Given the description of an element on the screen output the (x, y) to click on. 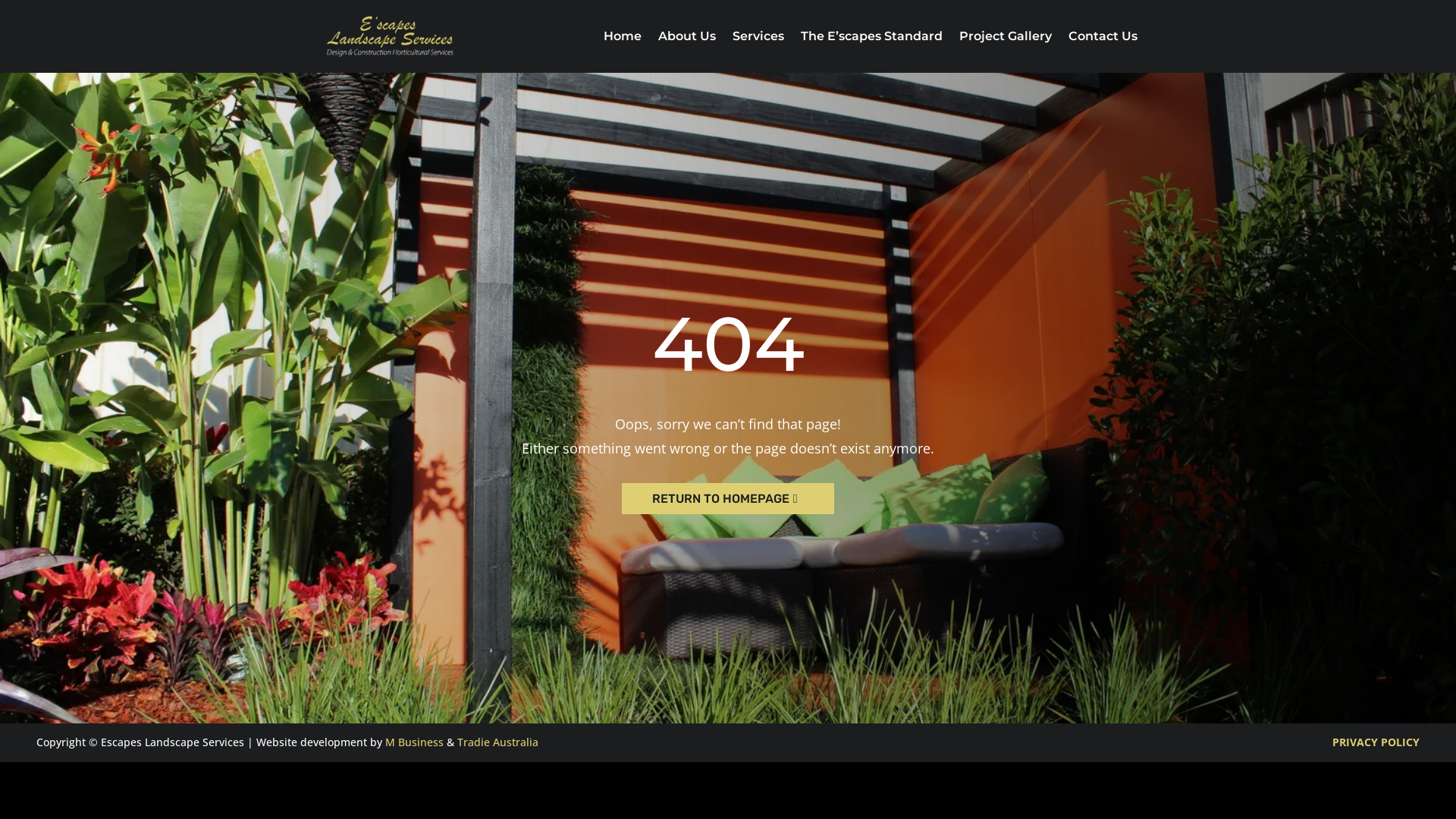
Home Element type: text (622, 36)
Contact Us Element type: text (1102, 36)
PRIVACY POLICY Element type: text (1375, 741)
M Business Element type: text (414, 741)
Tradie Australia Element type: text (497, 741)
Project Gallery Element type: text (1005, 36)
Services Element type: text (758, 36)
About Us Element type: text (686, 36)
RETURN TO HOMEPAGE Element type: text (727, 498)
